Given the description of an element on the screen output the (x, y) to click on. 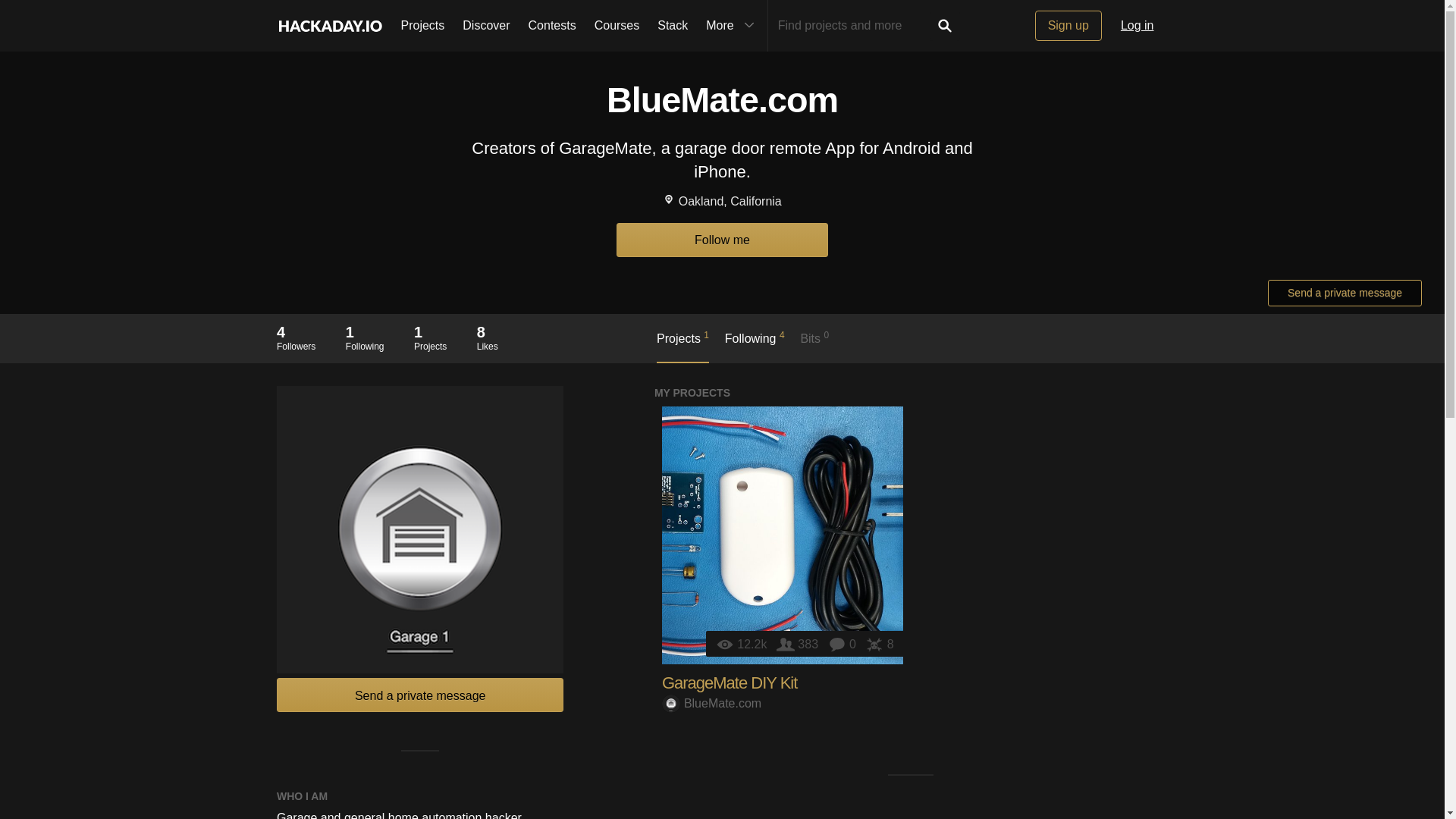
More (732, 25)
BlueMate.com (711, 703)
Follow me (721, 239)
GarageMate DIY Kit by BlueMate.com (783, 535)
Send a private message (419, 694)
Two characters minimum (853, 25)
Sign up (295, 336)
GarageMate DIY Kit (1068, 25)
Projects 1 (729, 682)
Likes (682, 346)
Send a private message (878, 644)
Contests (1345, 293)
Hackaday.io (365, 336)
